Given the description of an element on the screen output the (x, y) to click on. 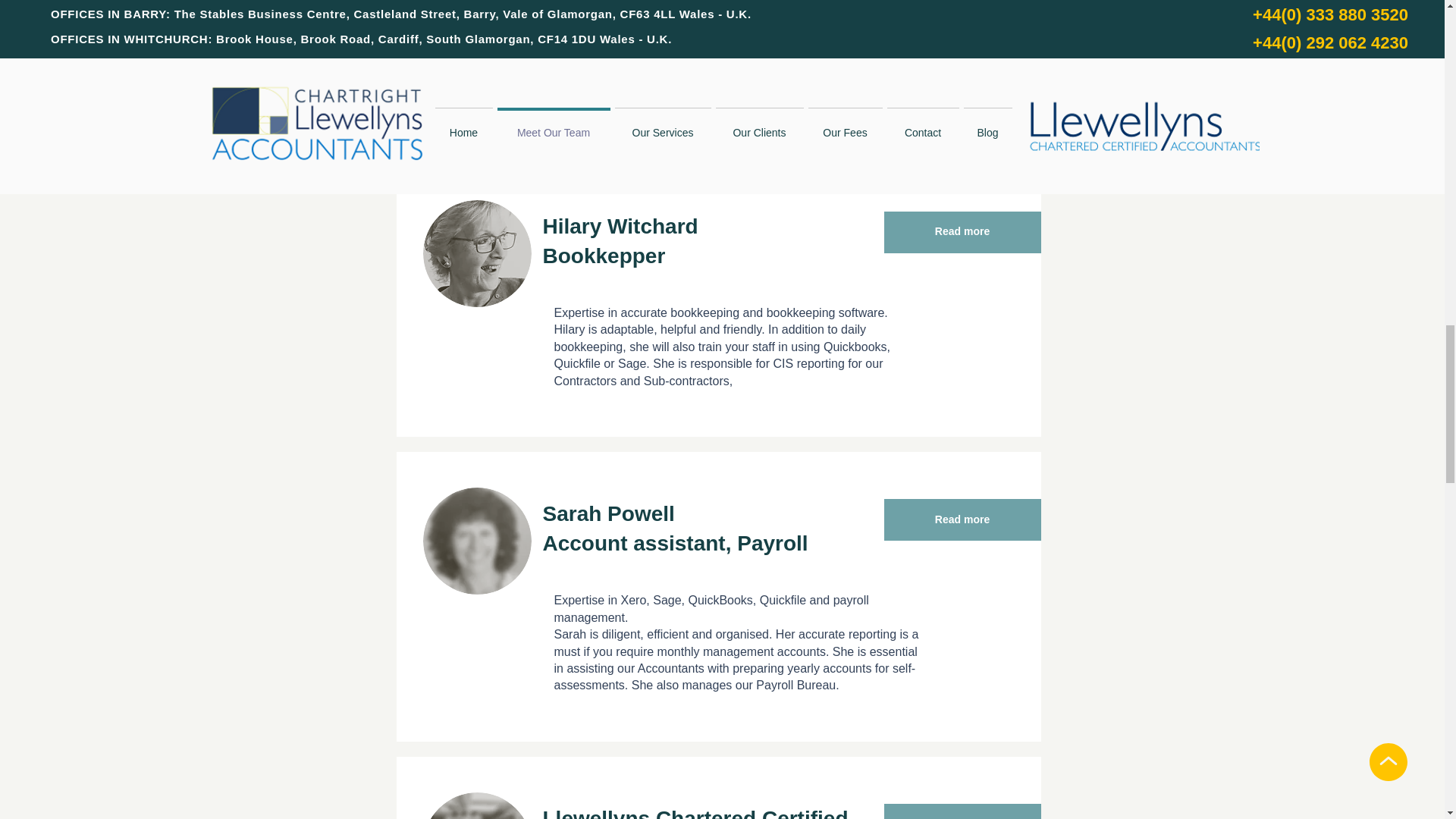
Read more (962, 811)
